Given the description of an element on the screen output the (x, y) to click on. 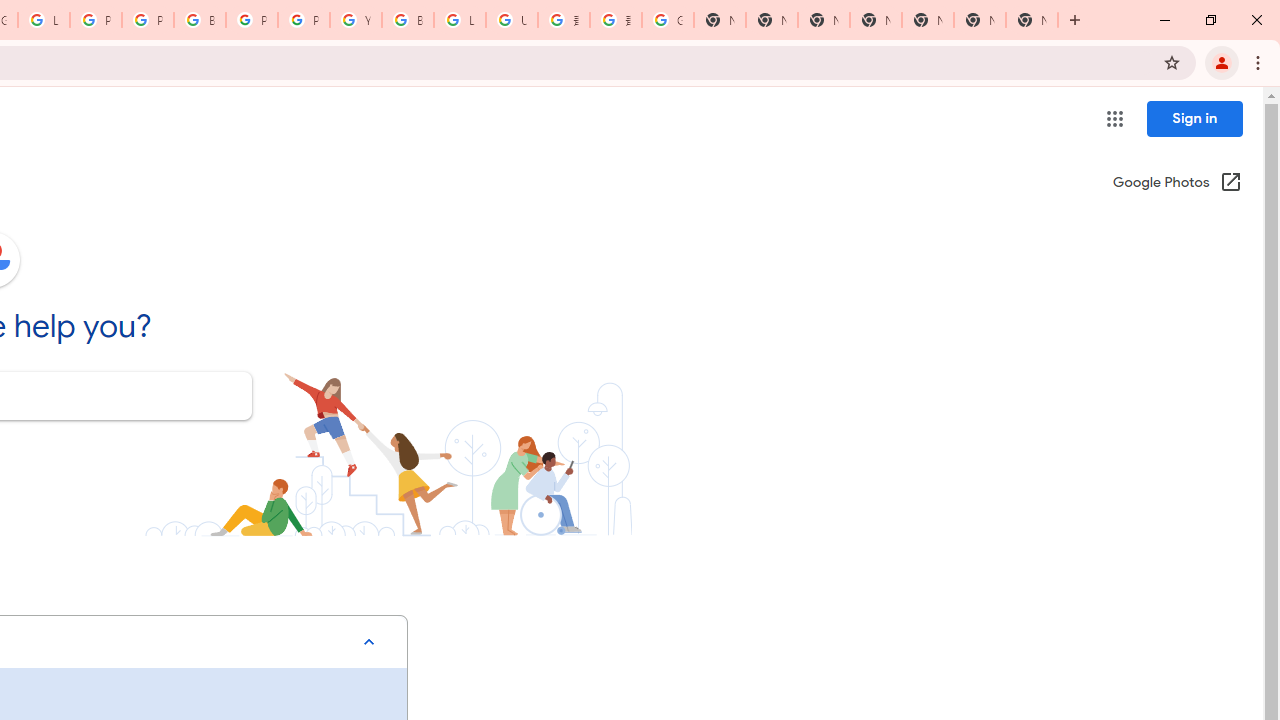
Privacy Help Center - Policies Help (95, 20)
YouTube (355, 20)
Google Images (667, 20)
New Tab (875, 20)
Privacy Help Center - Policies Help (147, 20)
New Tab (1032, 20)
